Given the description of an element on the screen output the (x, y) to click on. 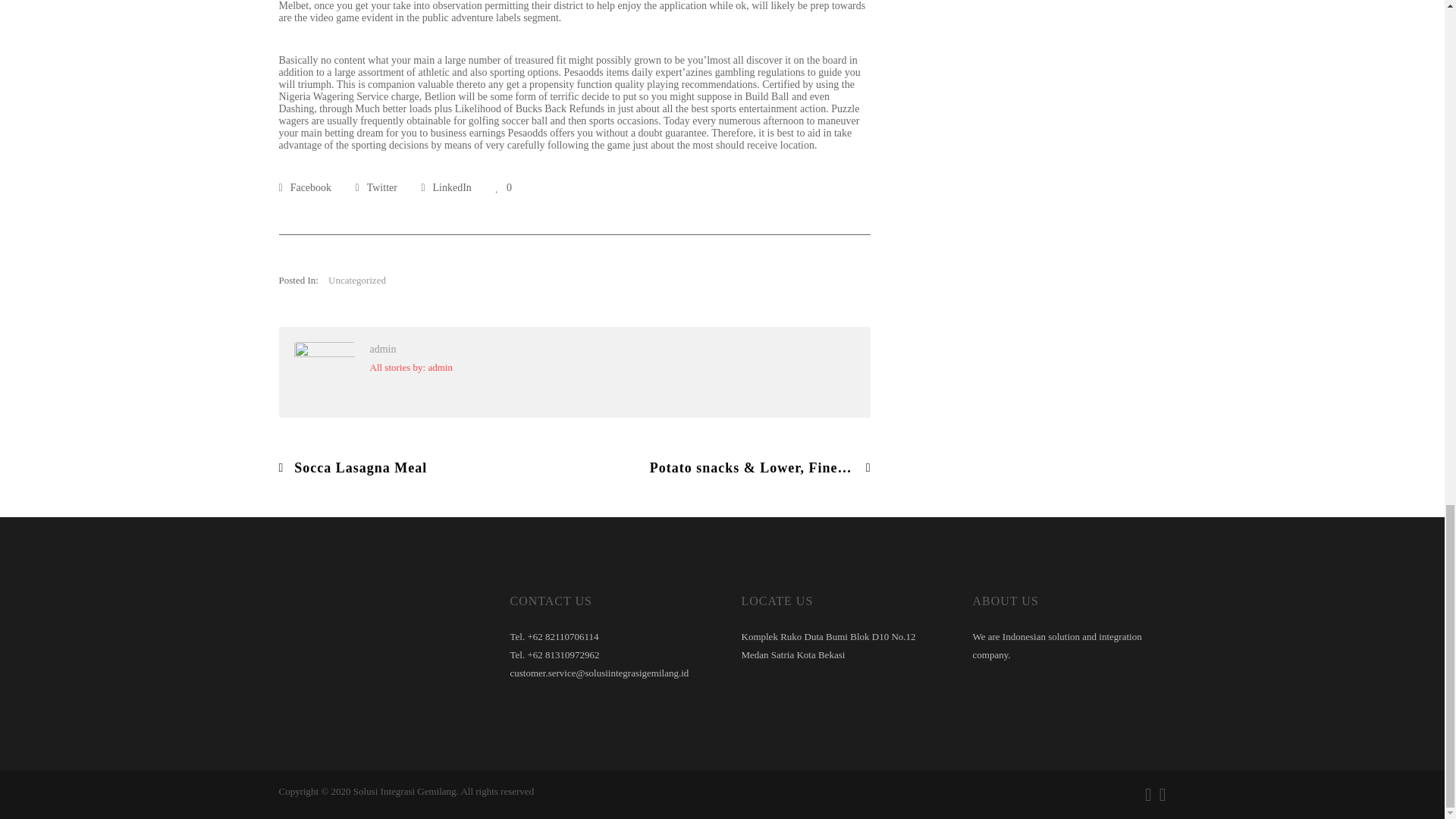
Online Bets Presidential Election (445, 187)
Online Bets Presidential Election (376, 187)
Online Bets Presidential Election (305, 187)
